Given the description of an element on the screen output the (x, y) to click on. 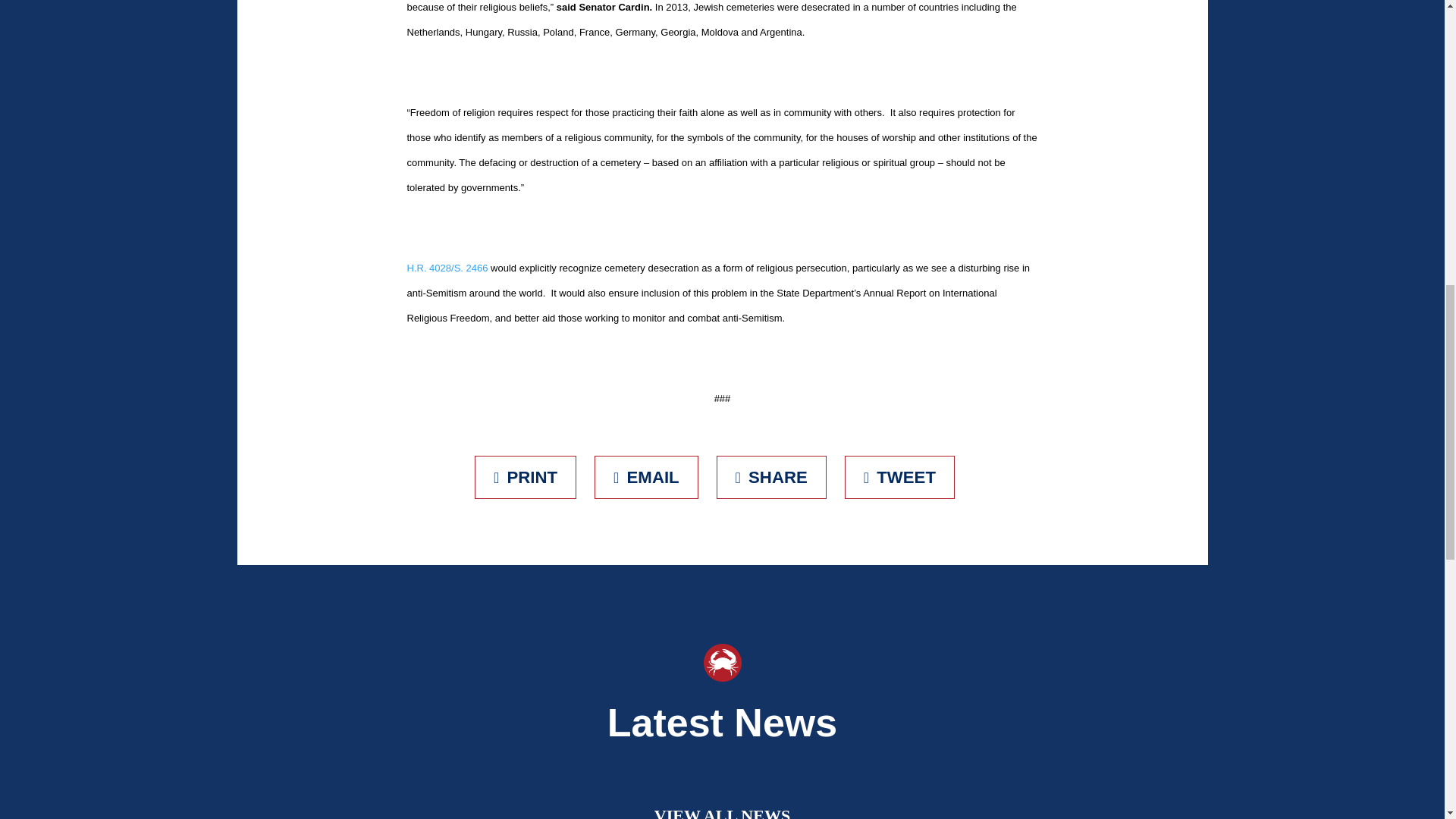
Share on Facebook (771, 476)
Tweet (899, 476)
Crab (722, 662)
Print (525, 476)
Email (646, 476)
